Given the description of an element on the screen output the (x, y) to click on. 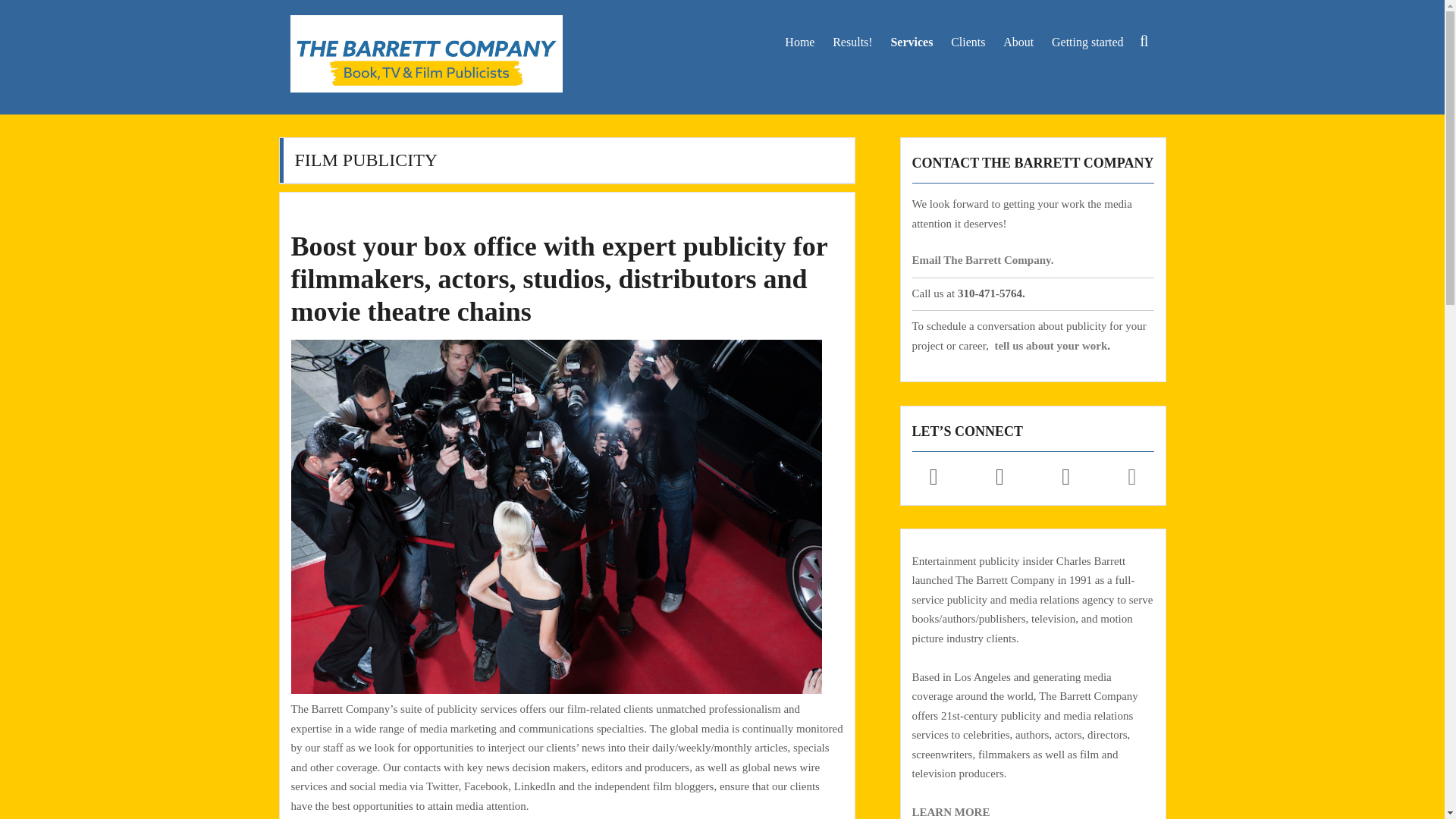
Home (799, 41)
Clients (967, 41)
The Barrett Company (394, 121)
About (1018, 41)
Services (911, 41)
Results! (852, 41)
Getting started (1087, 41)
